Given the description of an element on the screen output the (x, y) to click on. 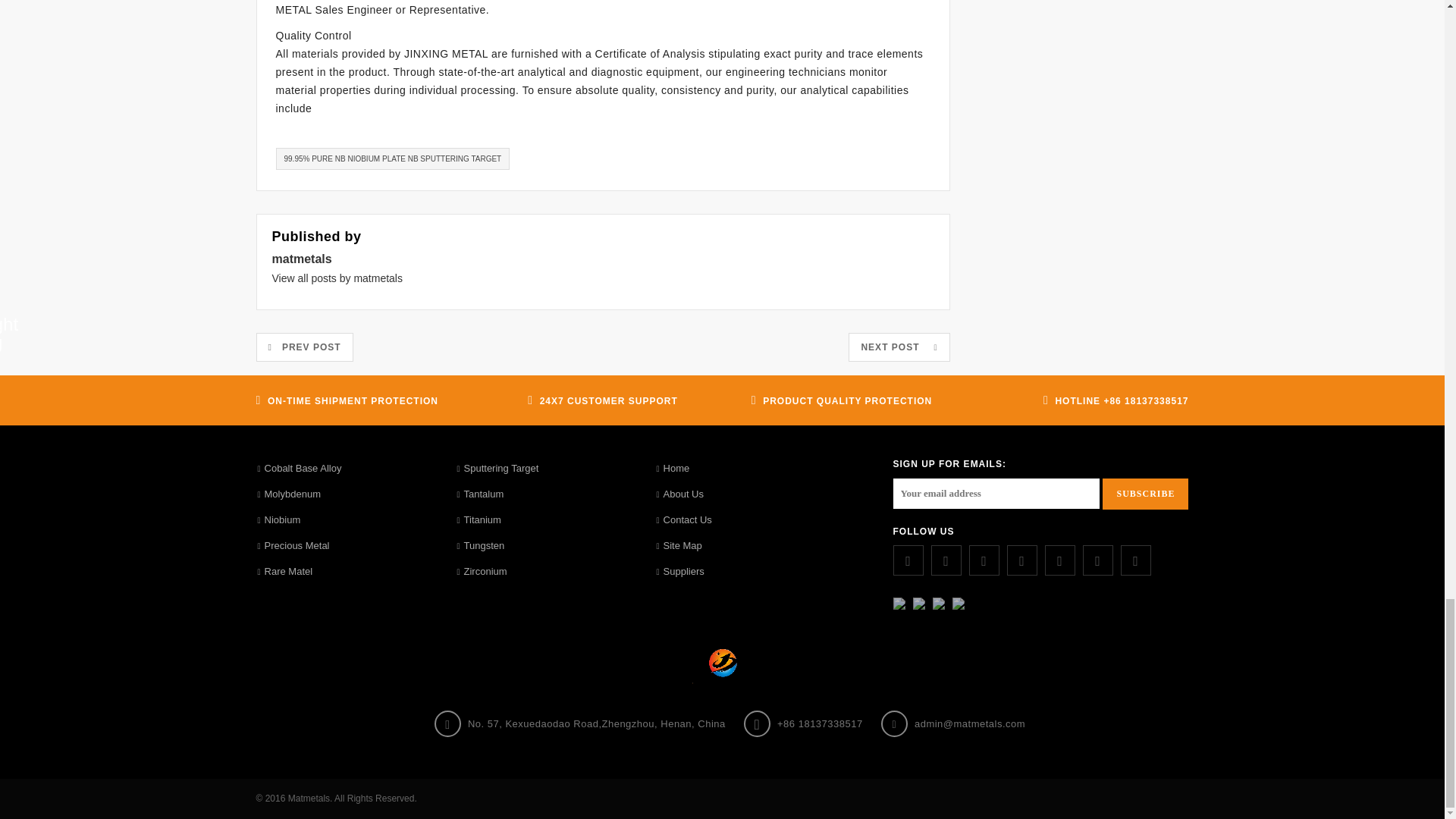
Niobium (279, 519)
Site Map (679, 545)
Sputtering Target (497, 468)
Tungsten (479, 545)
About Us (680, 494)
Rare Matel (285, 571)
Subscribe (1145, 493)
Contact Us (684, 519)
Titanium (478, 519)
Tantalum (479, 494)
Molybdenum (288, 494)
Precious Metal (293, 545)
home (673, 468)
Zirconium (481, 571)
Cobalt Base Alloy (299, 468)
